Given the description of an element on the screen output the (x, y) to click on. 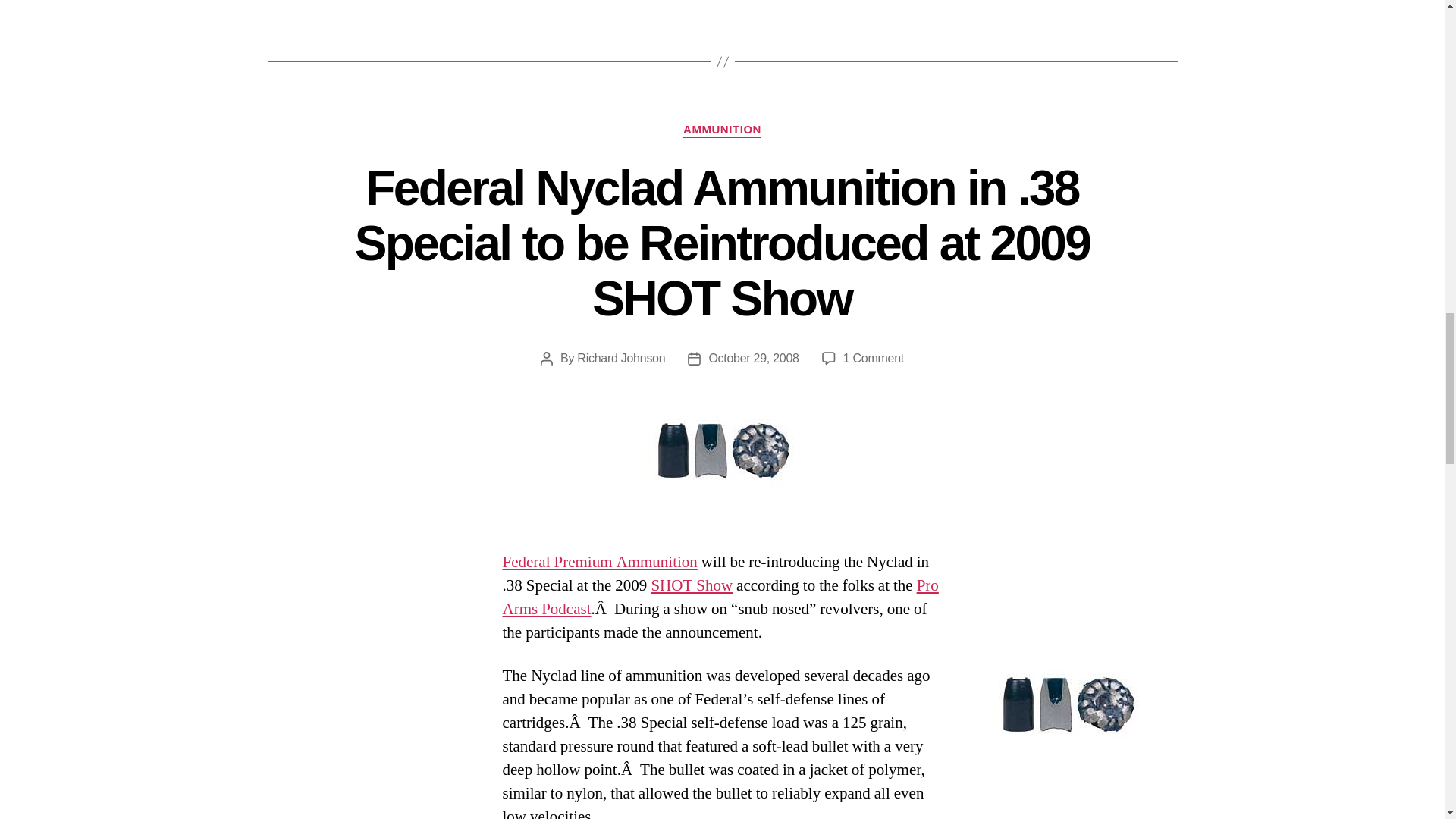
Pro Arms Podcast Gun Rights Radio Network (719, 597)
Federal Premium Ammunition cartridge (599, 562)
